Given the description of an element on the screen output the (x, y) to click on. 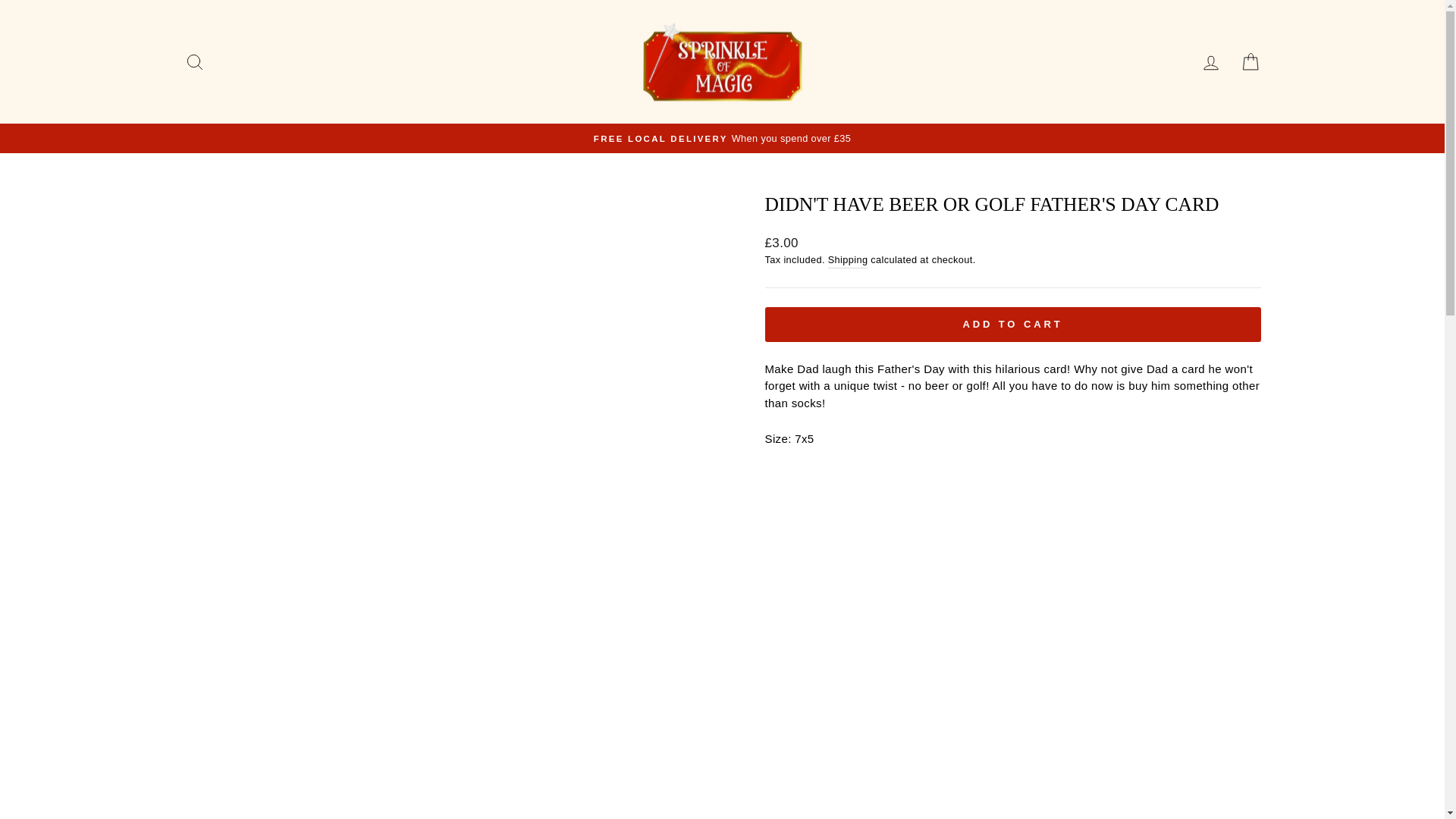
SEARCH (194, 61)
CART (1249, 61)
ADD TO CART (1012, 323)
LOG IN (1210, 61)
Shipping (847, 259)
